Given the description of an element on the screen output the (x, y) to click on. 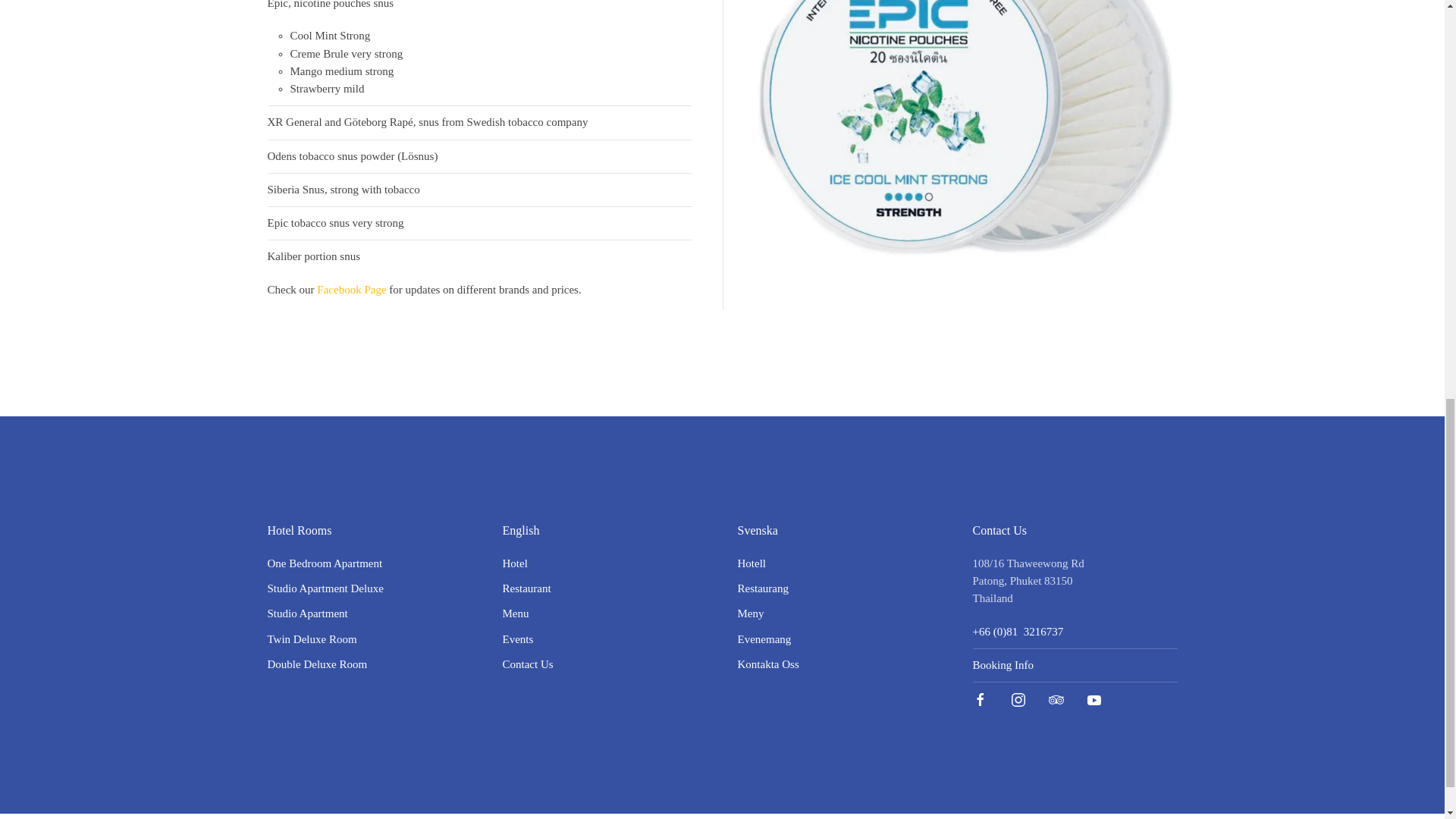
Hotell (750, 563)
Meny (749, 613)
Contact Us (527, 664)
Restaurang (761, 588)
Double Deluxe Room (316, 664)
Studio Apartment (306, 613)
Events (517, 639)
Twin Deluxe Room (311, 639)
Evenemang (763, 639)
Restaurant (526, 588)
Hotel (514, 563)
Facebook Page (351, 289)
Menu (515, 613)
One Bedroom Apartment (323, 563)
Studio Apartment Deluxe (324, 588)
